Given the description of an element on the screen output the (x, y) to click on. 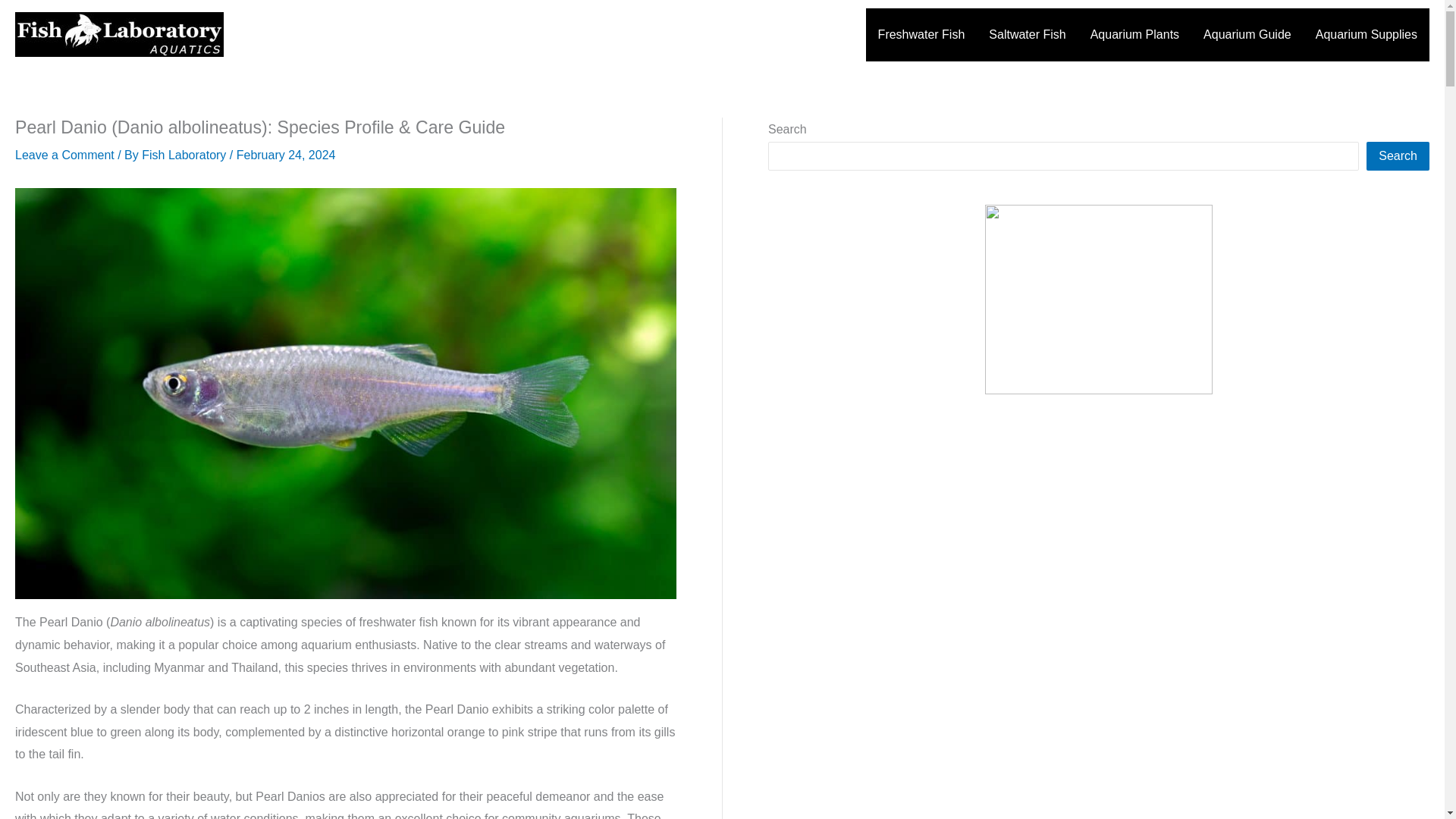
Leave a Comment (64, 154)
Aquarium Plants (1134, 33)
Aquarium Supplies (1366, 33)
Fish Laboratory (185, 154)
Search (1398, 155)
Saltwater Fish (1026, 33)
Aquarium Guide (1247, 33)
Freshwater Fish (921, 33)
View all posts by Fish Laboratory (185, 154)
